Given the description of an element on the screen output the (x, y) to click on. 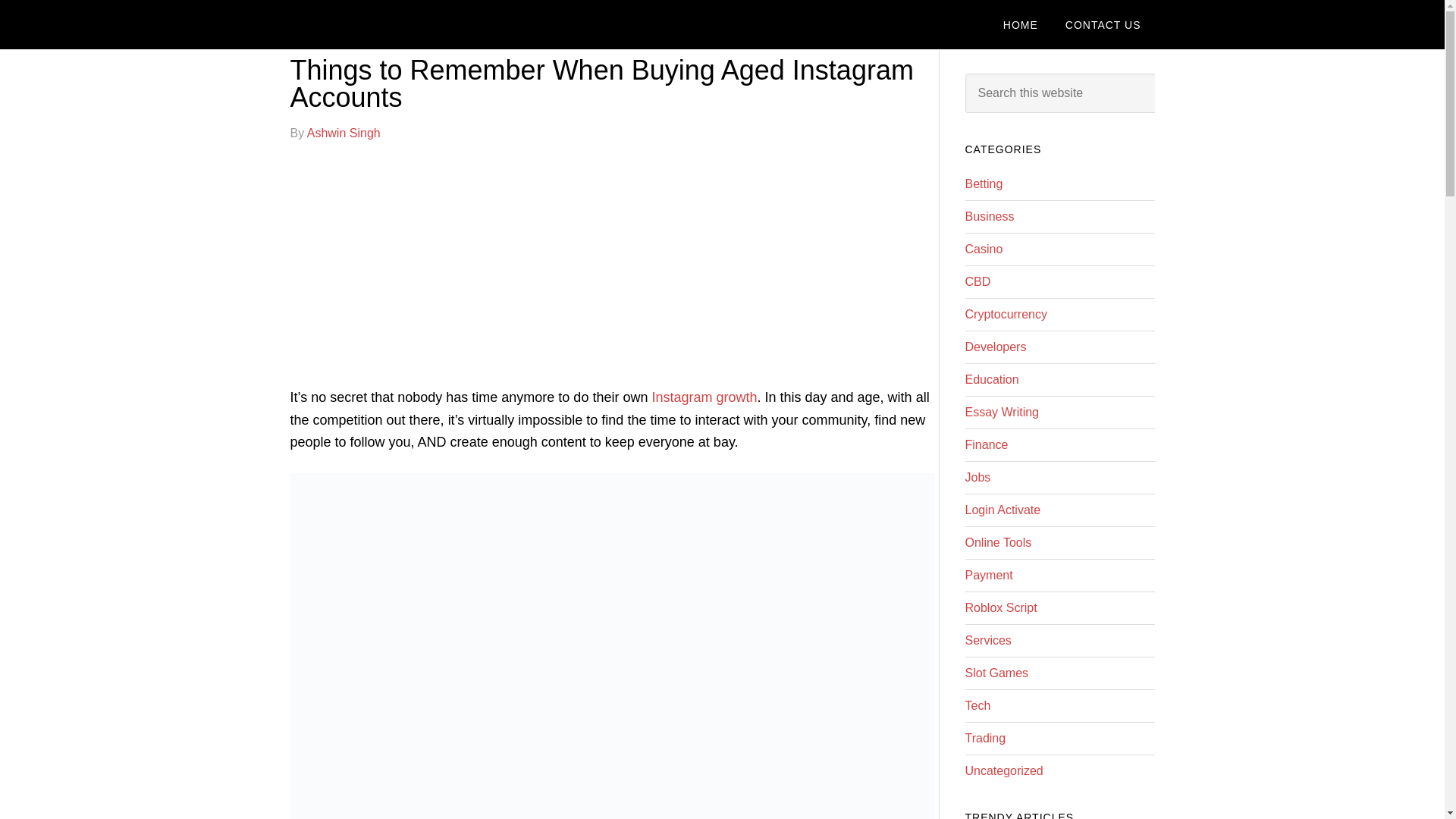
Finance (985, 444)
CONTACT US (1102, 24)
Betting (983, 183)
TUNNEL2TECH (410, 24)
Education (990, 379)
Slot Games (995, 672)
HOME (1020, 24)
Jobs (976, 477)
Ashwin Singh (343, 132)
Cryptocurrency (1004, 314)
Uncategorized (1002, 770)
Casino (983, 248)
Business (988, 215)
Online Tools (996, 542)
